Given the description of an element on the screen output the (x, y) to click on. 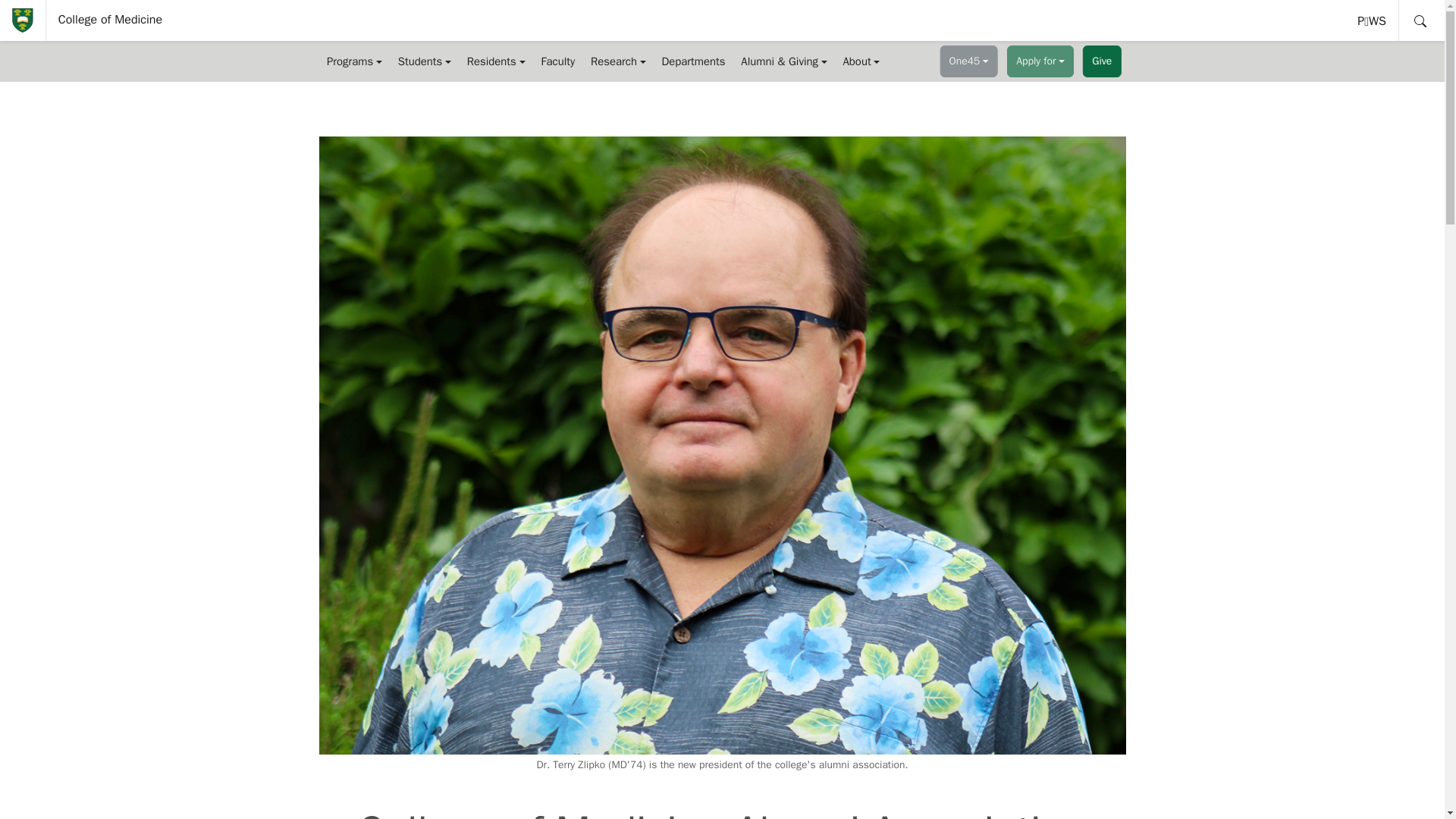
College of Medicine (110, 20)
PAWS (1372, 20)
Programs (354, 60)
Students (1372, 20)
Residents (424, 60)
